Given the description of an element on the screen output the (x, y) to click on. 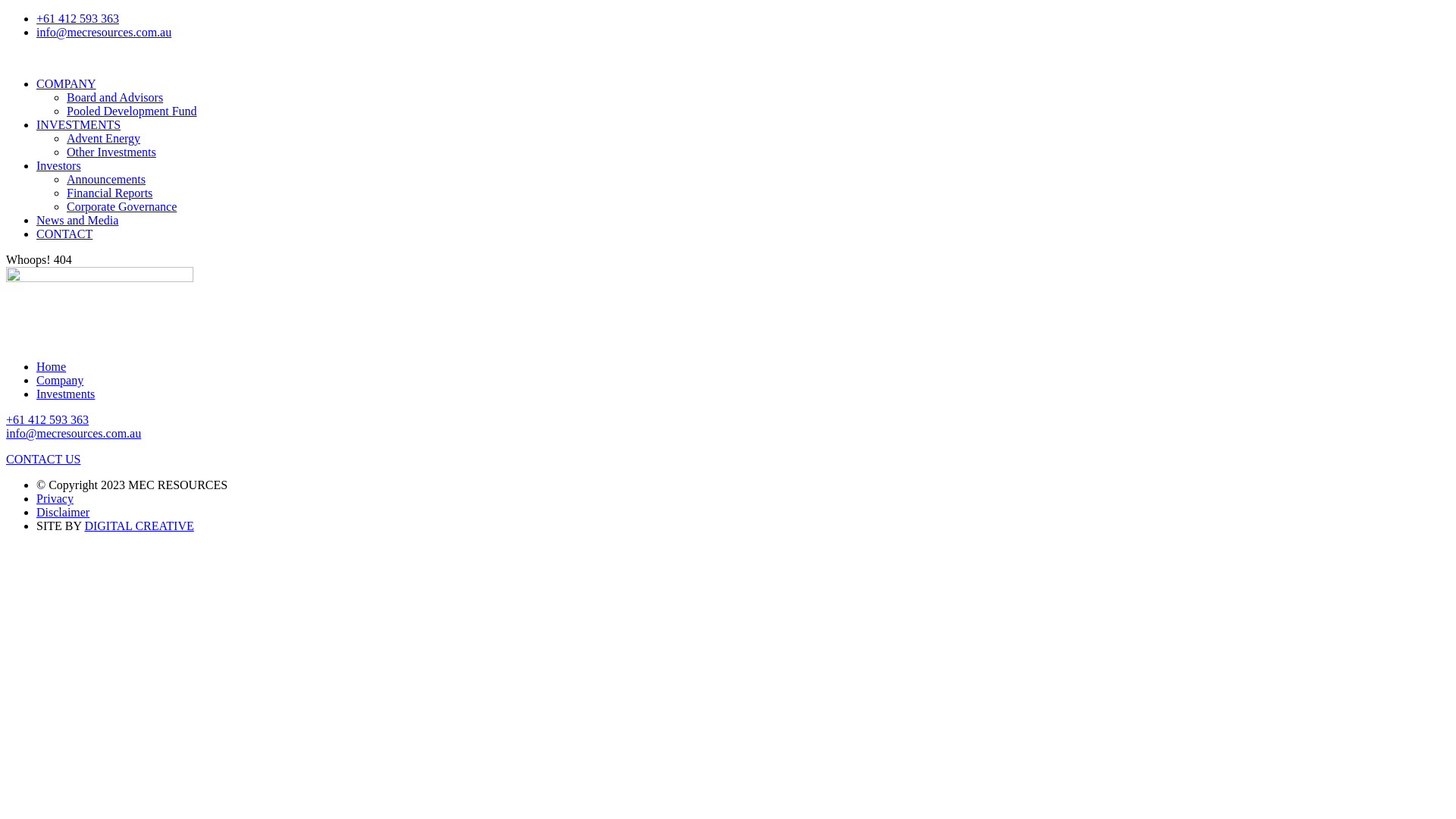
CONTACT Element type: text (64, 233)
info@mecresources.com.au Element type: text (73, 432)
Financial Reports Element type: text (109, 192)
INVESTMENTS Element type: text (78, 124)
Home Element type: text (50, 366)
Other Investments Element type: text (111, 151)
Disclaimer Element type: text (62, 511)
+61 412 593 363 Element type: text (47, 419)
COMPANY Element type: text (66, 83)
+61 412 593 363 Element type: text (77, 18)
info@mecresources.com.au Element type: text (103, 31)
Pooled Development Fund Element type: text (131, 110)
CONTACT US Element type: text (43, 458)
Announcements Element type: text (105, 178)
Privacy Element type: text (54, 498)
Company Element type: text (59, 379)
News and Media Element type: text (77, 219)
Investments Element type: text (65, 393)
Investors Element type: text (58, 165)
DIGITAL CREATIVE Element type: text (138, 525)
Corporate Governance Element type: text (121, 206)
Advent Energy Element type: text (103, 137)
Board and Advisors Element type: text (114, 97)
